Given the description of an element on the screen output the (x, y) to click on. 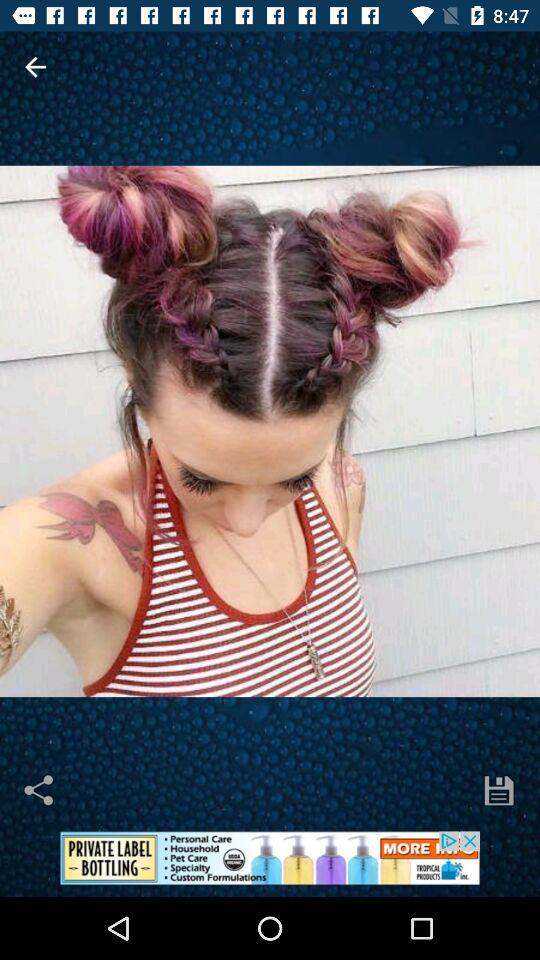
advertisement (270, 864)
